Given the description of an element on the screen output the (x, y) to click on. 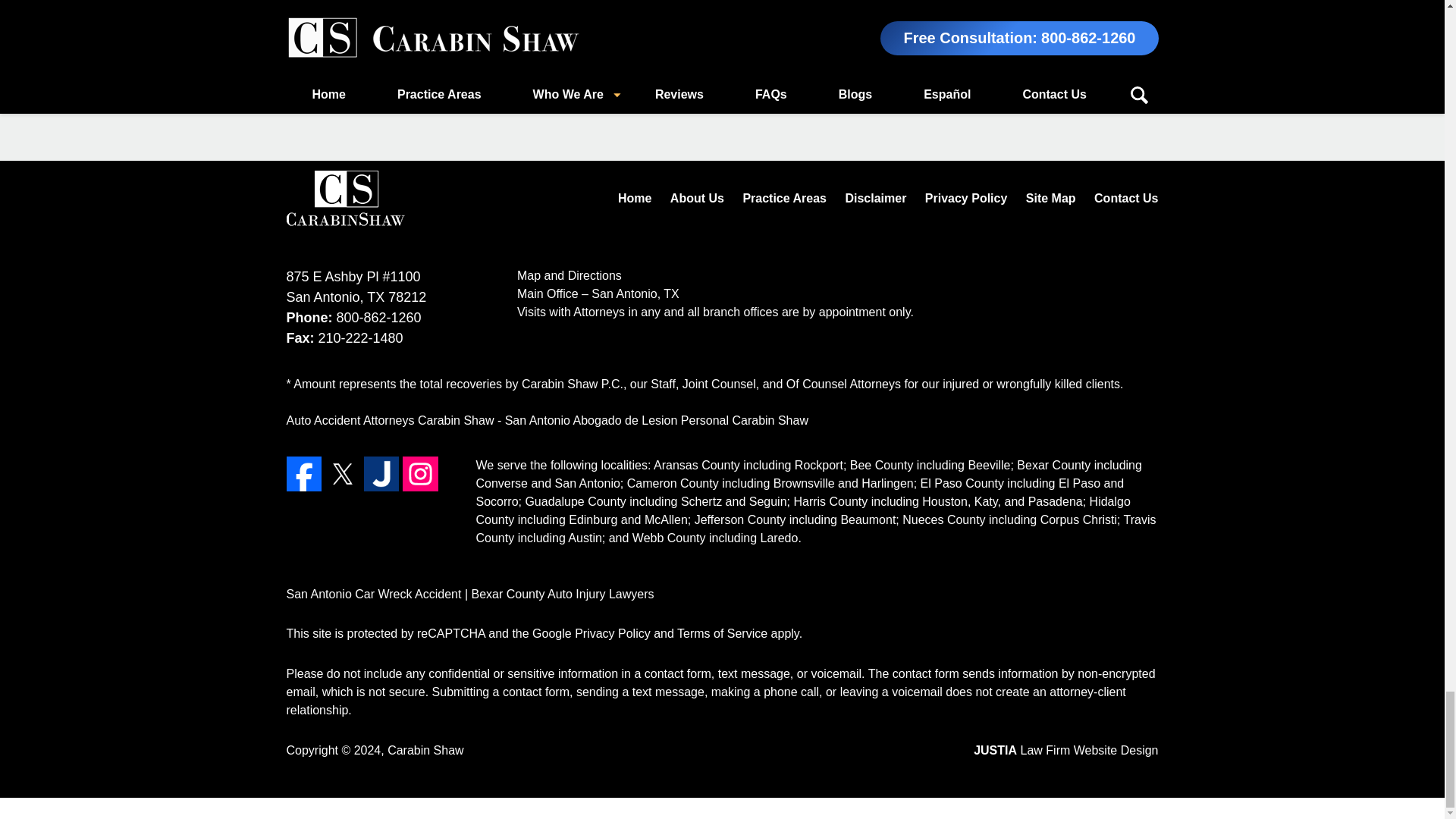
Facebook (303, 473)
Justia (381, 473)
Twitter (341, 473)
Instagram (420, 473)
